Given the description of an element on the screen output the (x, y) to click on. 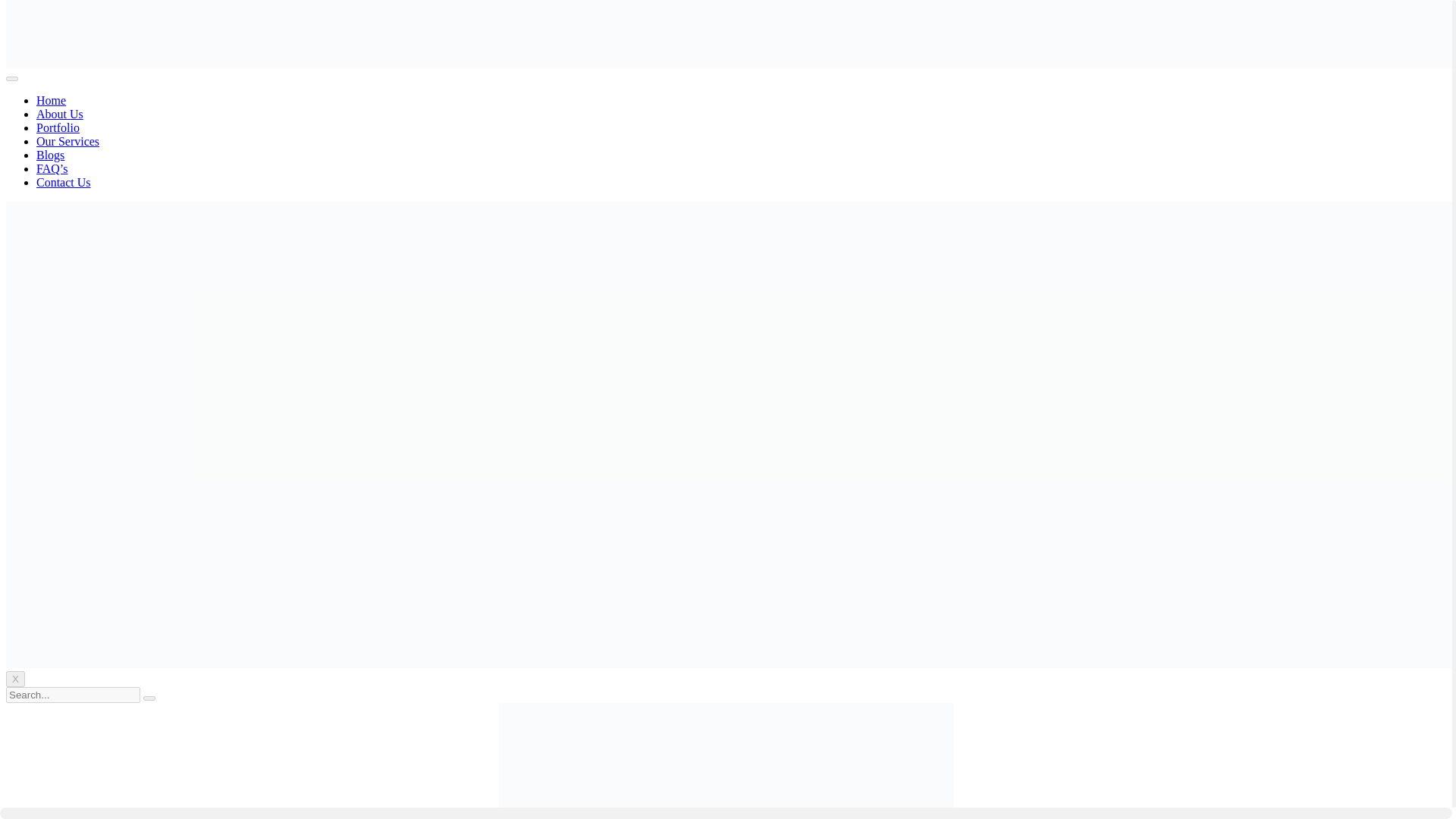
Blogs (50, 154)
Portfolio (58, 127)
About Us (59, 113)
X (14, 678)
Home (50, 100)
Contact Us (63, 182)
Our Services (67, 141)
